Given the description of an element on the screen output the (x, y) to click on. 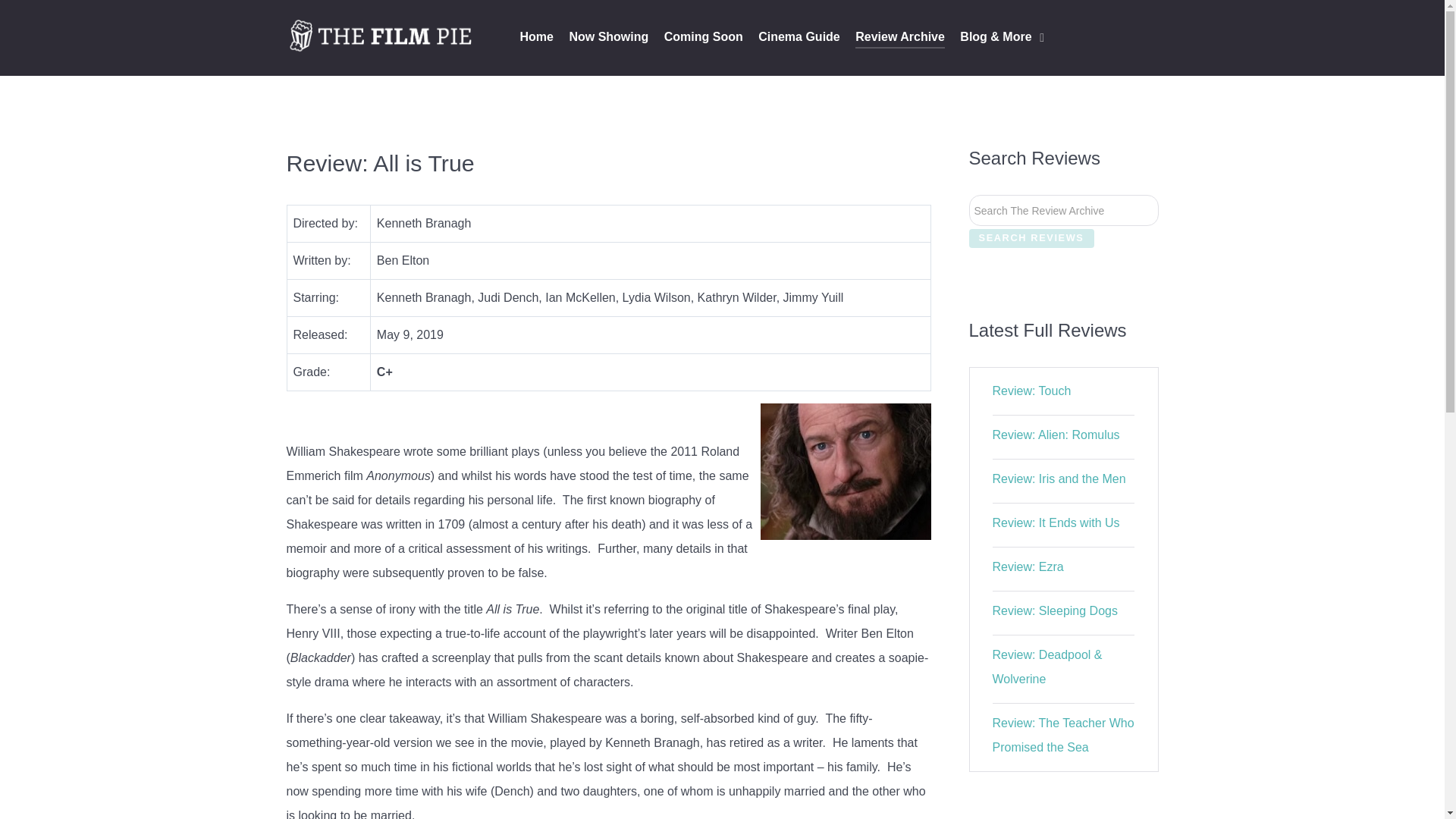
Review: Ezra (1028, 566)
Review: The Teacher Who Promised the Sea (1063, 734)
Home (536, 38)
Review: Touch (1031, 390)
SEARCH REVIEWS (1031, 238)
Review: Iris and the Men (1058, 478)
Cinema Guide (799, 38)
Review: It Ends with Us (1055, 522)
Review: Sleeping Dogs (1055, 610)
Coming Soon (702, 38)
